Given the description of an element on the screen output the (x, y) to click on. 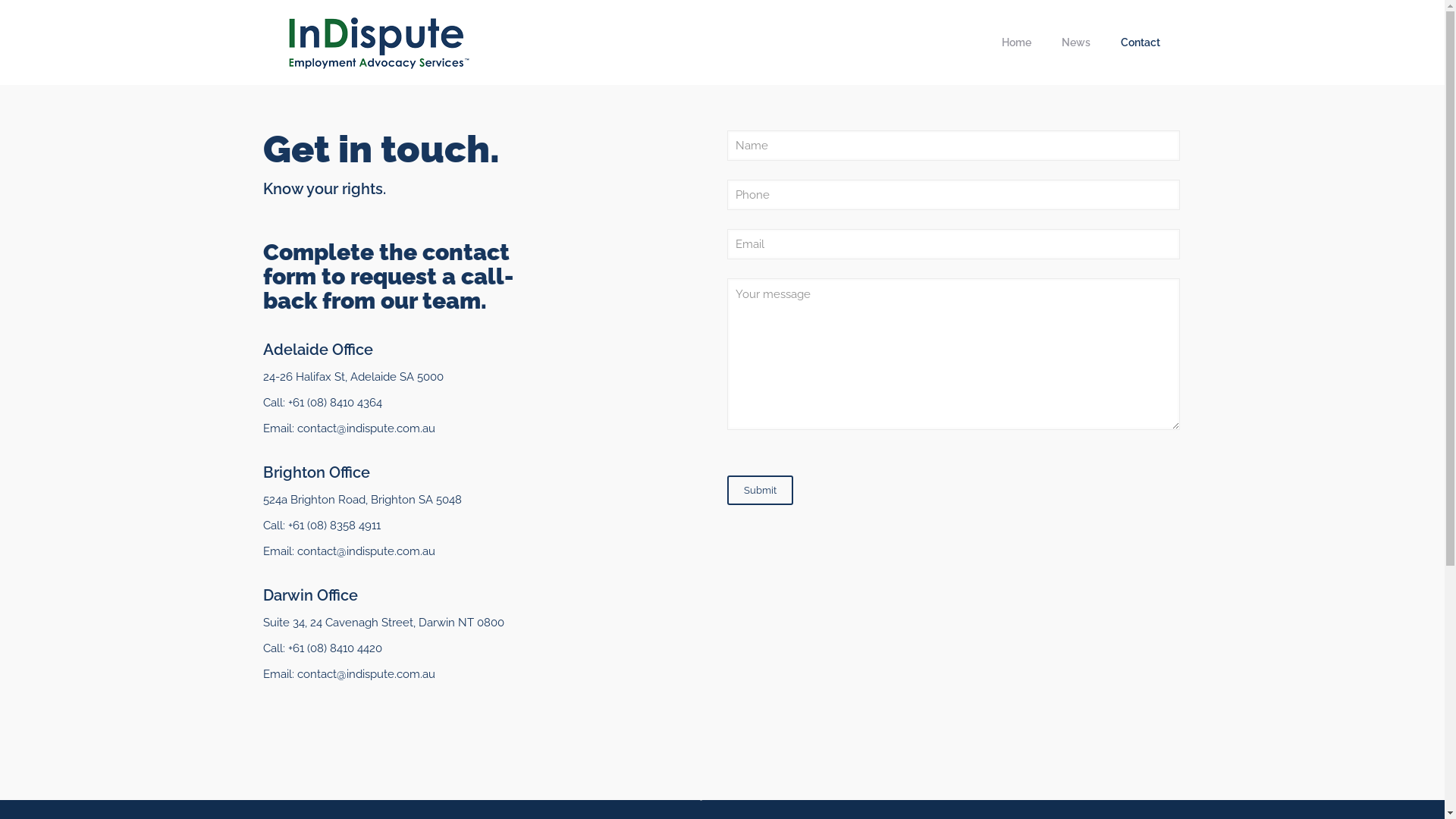
safety Element type: text (1076, 598)
Twitter Element type: hover (722, 795)
LinkedIn Element type: hover (742, 795)
harassment Element type: text (988, 598)
Contact Element type: text (1140, 42)
legal Element type: text (1025, 598)
News Element type: text (1075, 42)
Home Element type: text (382, 591)
Contact Element type: text (382, 620)
dismissal Element type: text (1021, 582)
disputes Element type: text (1061, 582)
Adelaide Element type: text (981, 582)
Facebook Element type: hover (701, 795)
fair work Element type: text (1156, 582)
workplace Element type: text (1113, 598)
news Element type: text (1049, 598)
In Dispute Employment Advocacy Services Element type: hover (378, 42)
TOTLD Design Element type: text (922, 772)
employment Element type: text (1108, 582)
Home Element type: text (1016, 42)
